Given the description of an element on the screen output the (x, y) to click on. 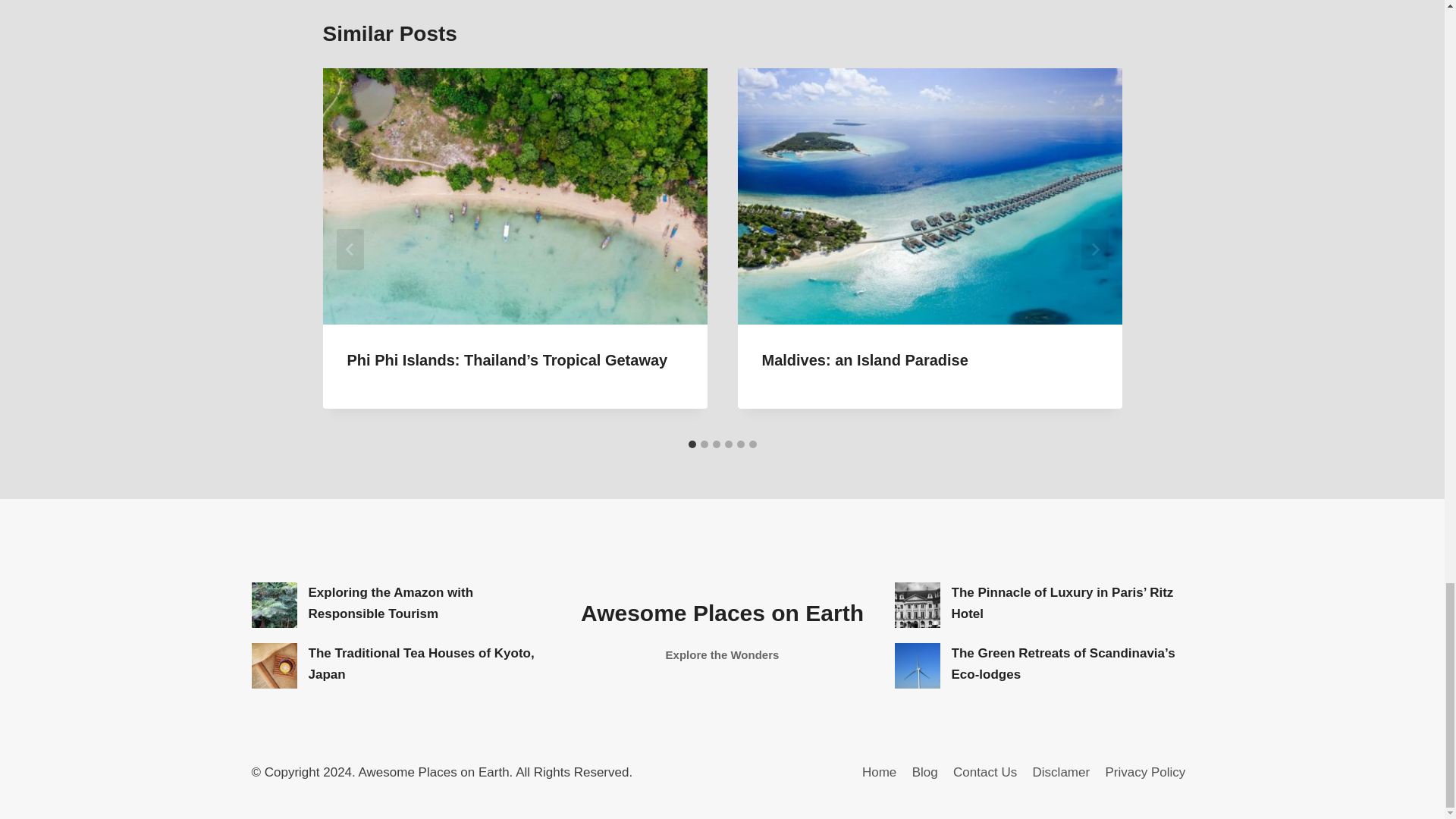
Exploring the Amazon with Responsible Tourism (274, 605)
Maldives: an Island Paradise (864, 360)
The Traditional Tea Houses of Kyoto, Japan (274, 665)
